Given the description of an element on the screen output the (x, y) to click on. 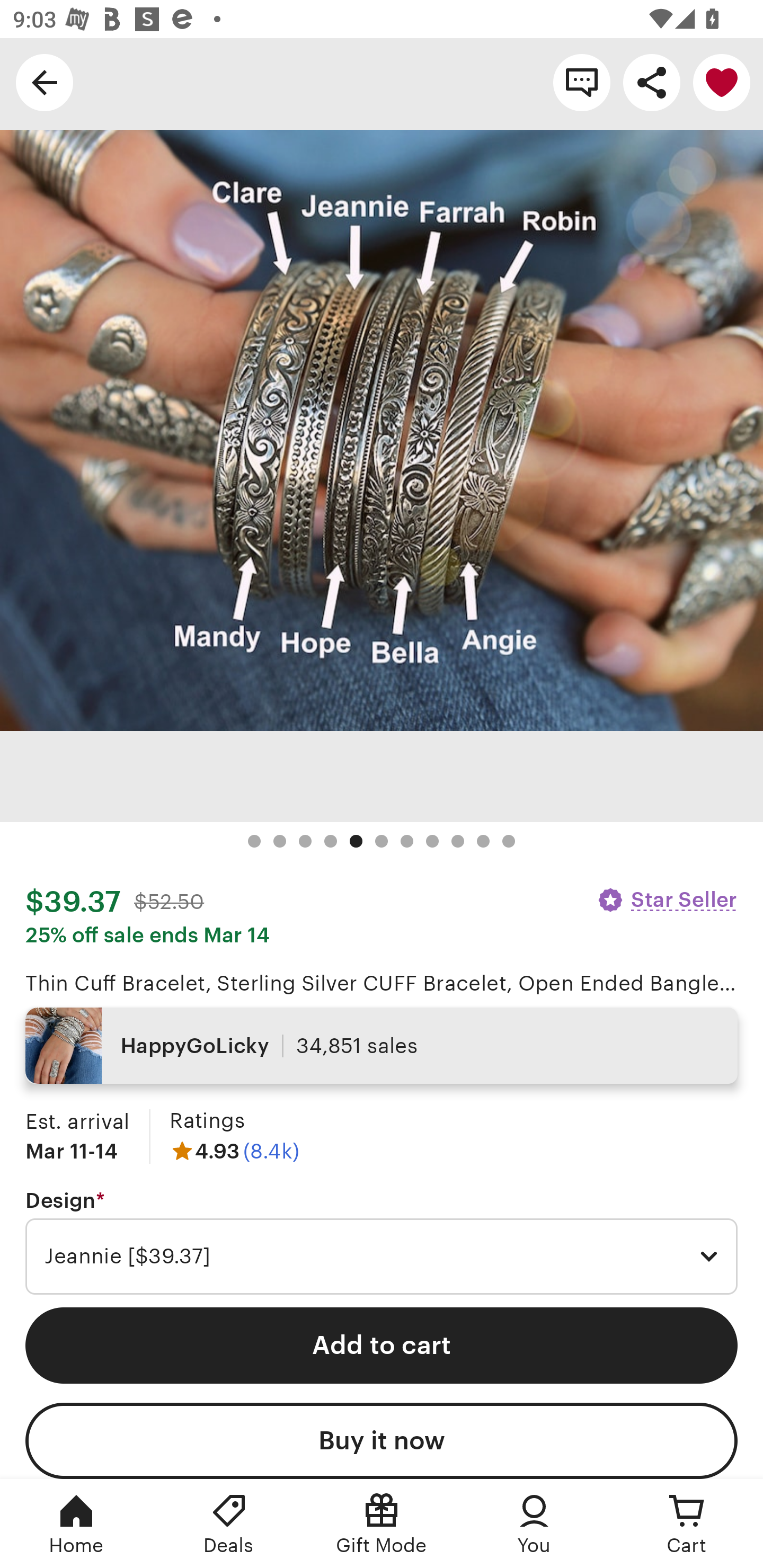
Navigate up (44, 81)
Contact shop (581, 81)
Share (651, 81)
Star Seller (666, 899)
HappyGoLicky 34,851 sales (381, 1045)
Ratings (206, 1120)
4.93 (8.4k) (234, 1150)
Design * Required Jeannie [$39.37] (381, 1241)
Jeannie [$39.37] (381, 1256)
Add to cart (381, 1344)
Buy it now (381, 1440)
Deals (228, 1523)
Gift Mode (381, 1523)
You (533, 1523)
Cart (686, 1523)
